Given the description of an element on the screen output the (x, y) to click on. 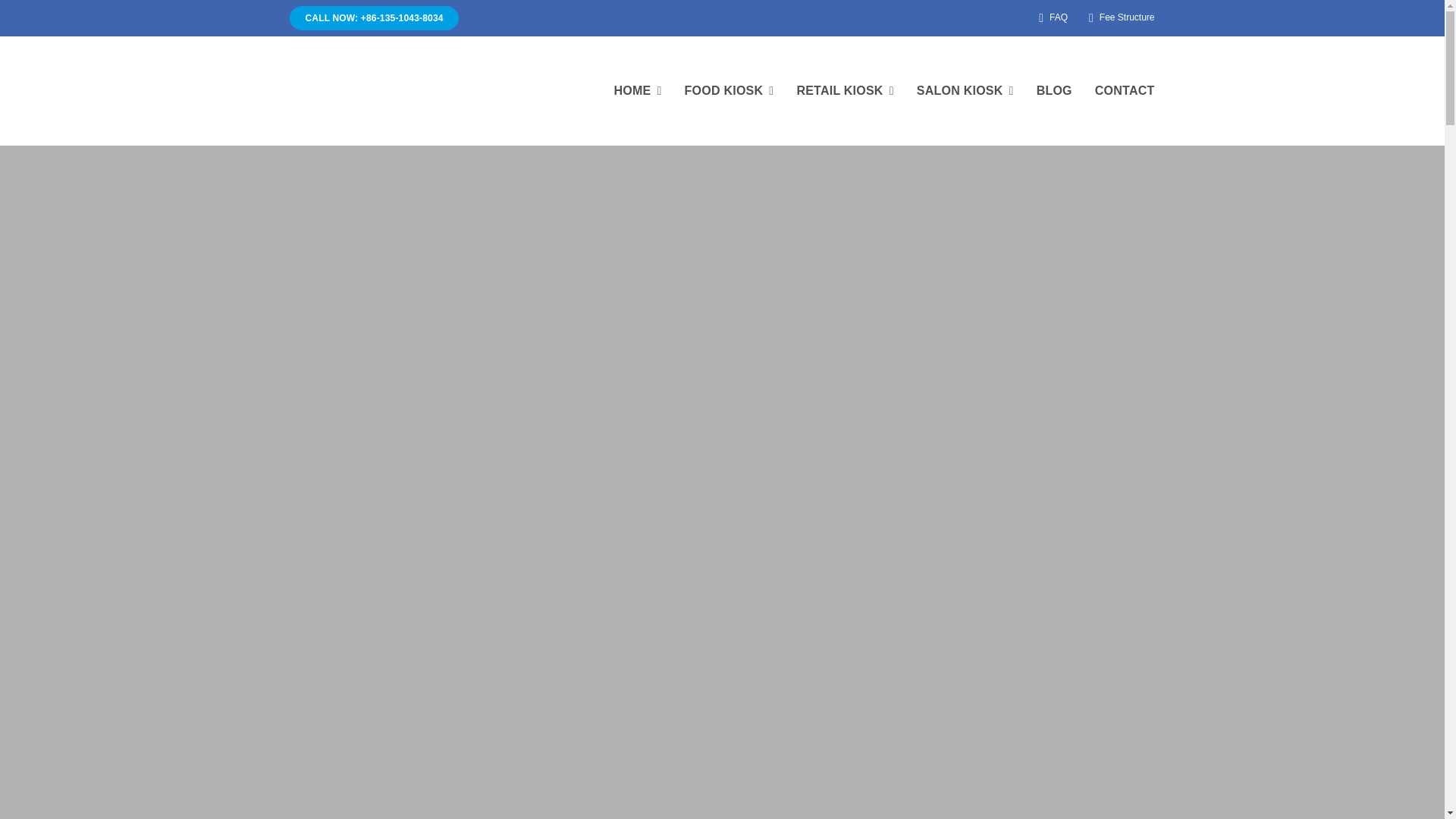
FOOD KIOSK (729, 90)
FAQ (1049, 18)
SALON KIOSK (965, 90)
Fee Structure (1118, 18)
HOME (636, 90)
RETAIL KIOSK (844, 90)
